Given the description of an element on the screen output the (x, y) to click on. 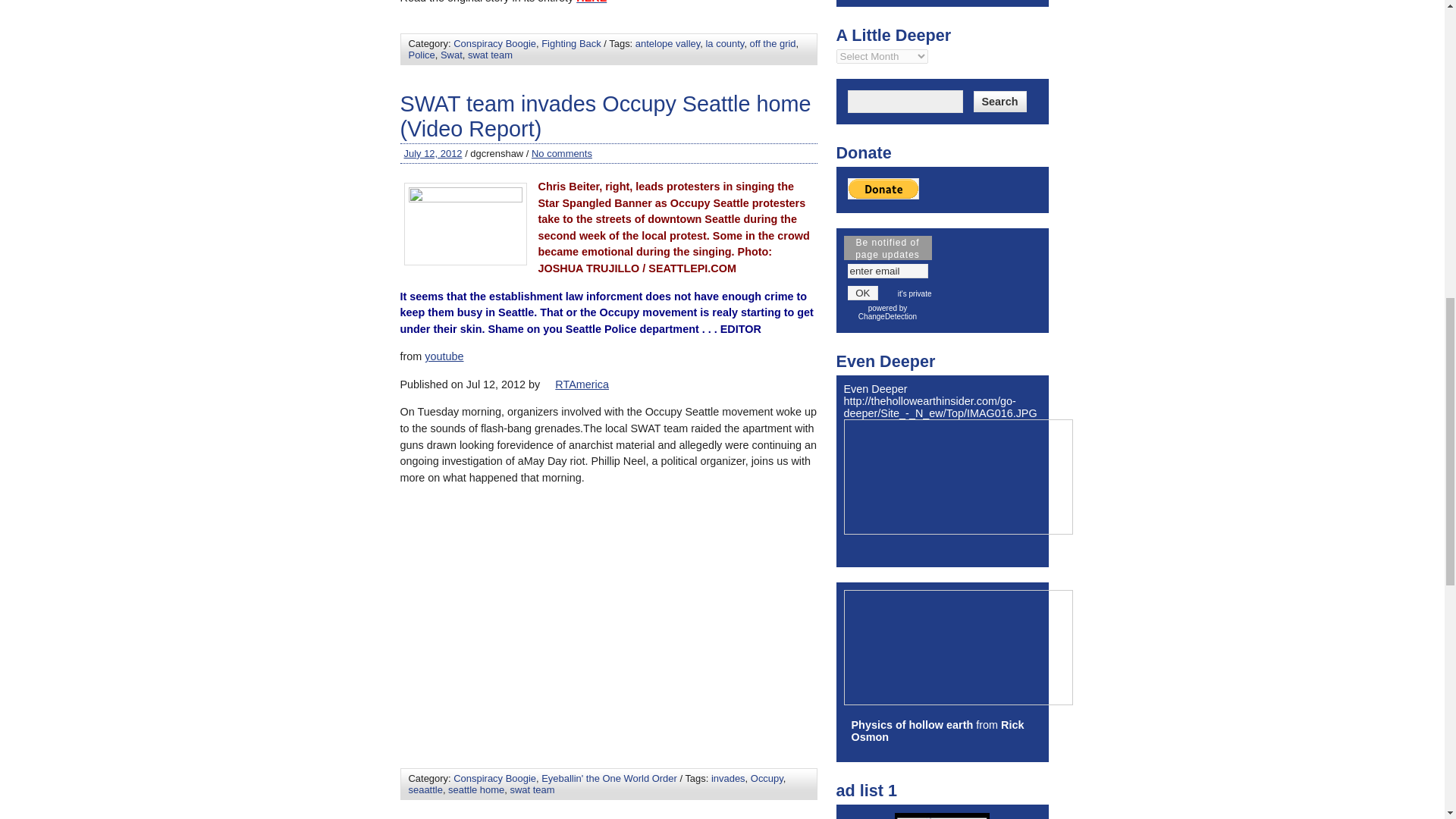
swat team (489, 54)
HERE (591, 2)
enter email (887, 270)
Police (420, 54)
Eyeballin' the One World Order (609, 778)
Swat (452, 54)
youtube (444, 356)
seaattle (424, 789)
off the grid (772, 43)
Conspiracy Boogie (493, 43)
la county (724, 43)
July 12, 2012 (432, 153)
 OK  (863, 292)
Fighting Back (570, 43)
Occupy (767, 778)
